Given the description of an element on the screen output the (x, y) to click on. 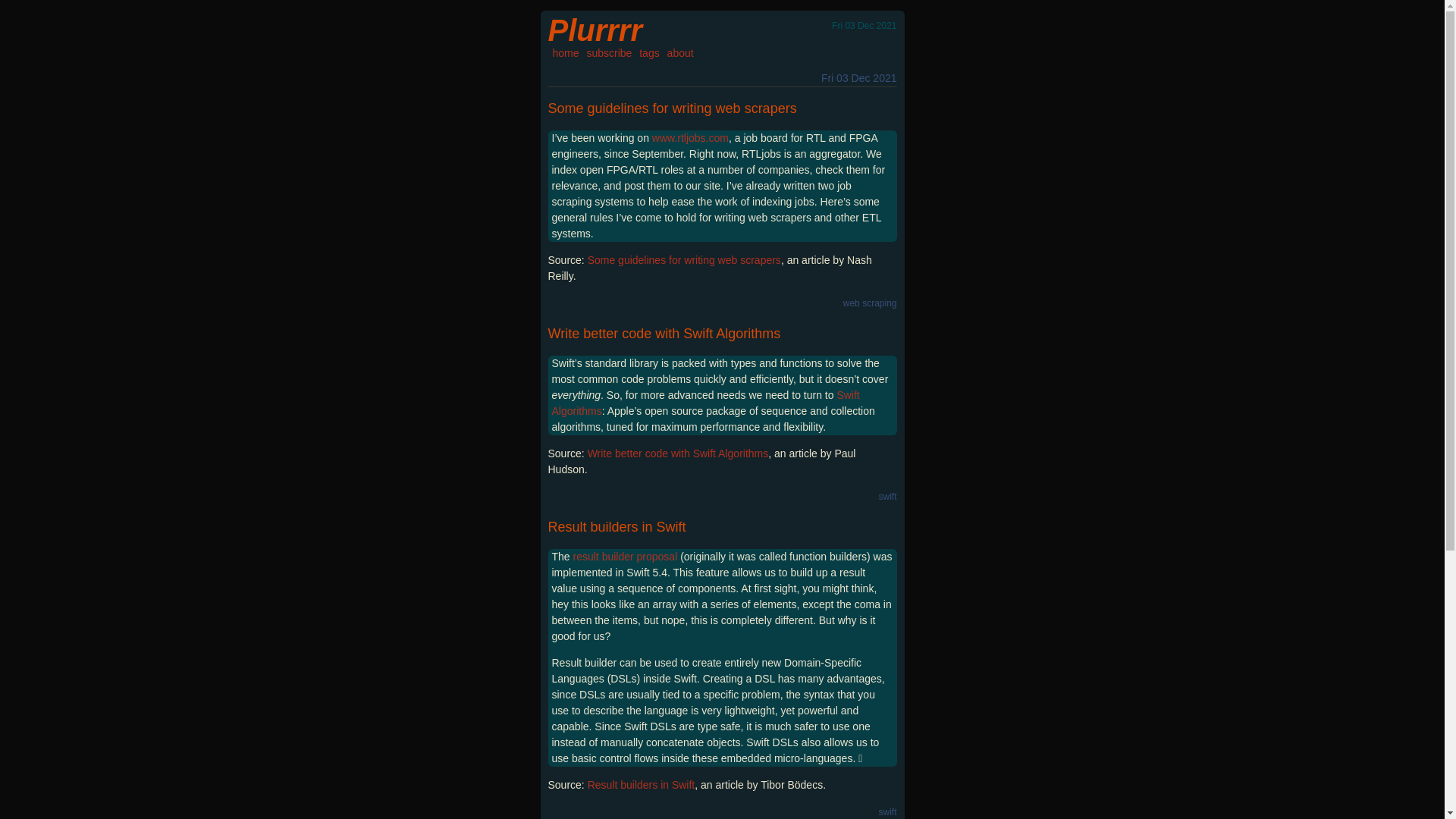
Result builders in Swift (641, 784)
swift (886, 496)
result builder proposal (625, 556)
subscribe (608, 52)
tags (649, 52)
Result builders in Swift (616, 526)
Fri 03 Dec 2021 (858, 78)
swift (886, 811)
Swift Algorithms (705, 402)
Write better code with Swift Algorithms (678, 453)
web scraping (869, 303)
home (564, 52)
Some guidelines for writing web scrapers (684, 259)
Write better code with Swift Algorithms (663, 333)
